Given the description of an element on the screen output the (x, y) to click on. 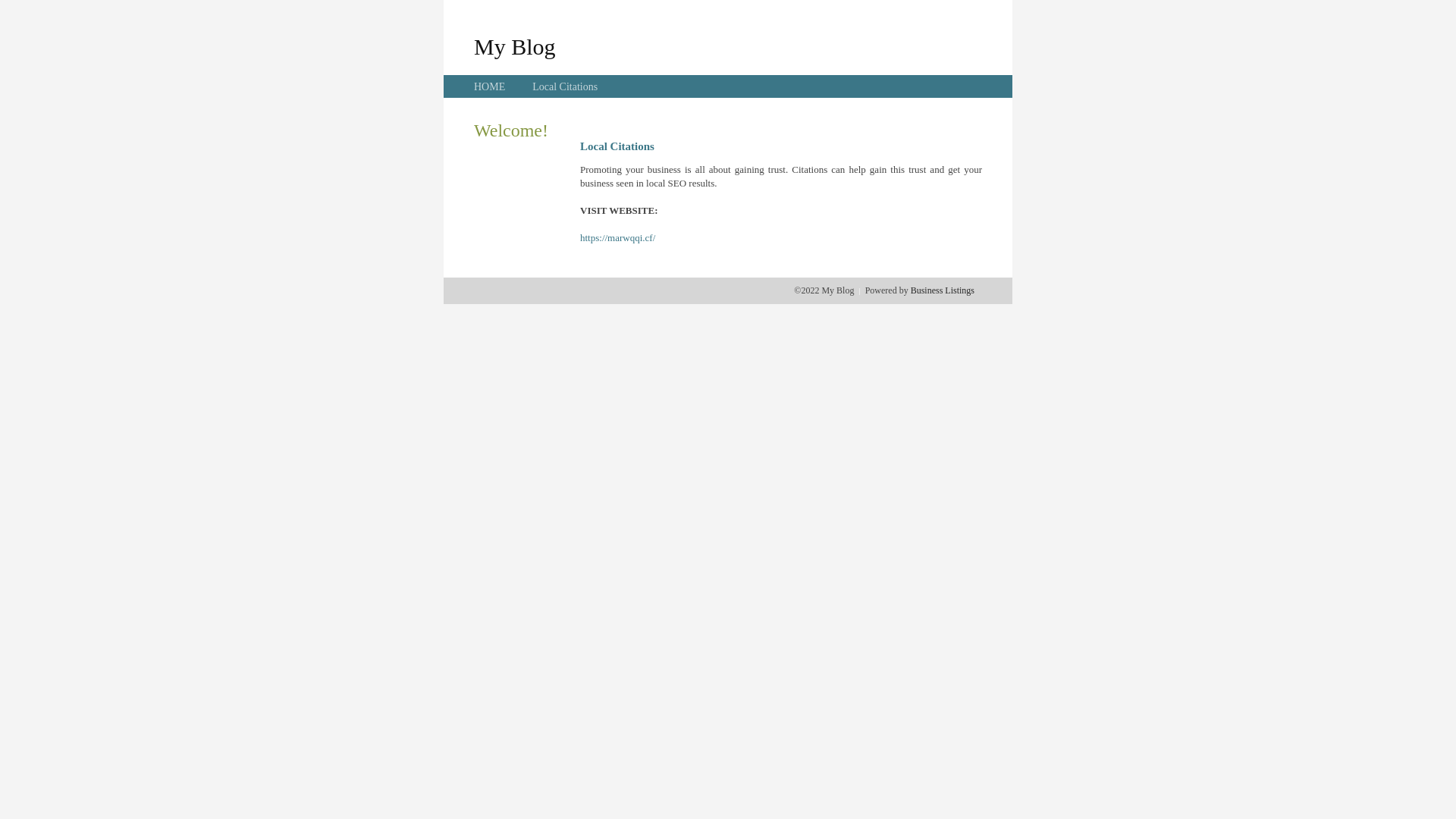
https://marwqqi.cf/ Element type: text (617, 237)
My Blog Element type: text (514, 46)
HOME Element type: text (489, 86)
Local Citations Element type: text (564, 86)
Business Listings Element type: text (942, 290)
